Given the description of an element on the screen output the (x, y) to click on. 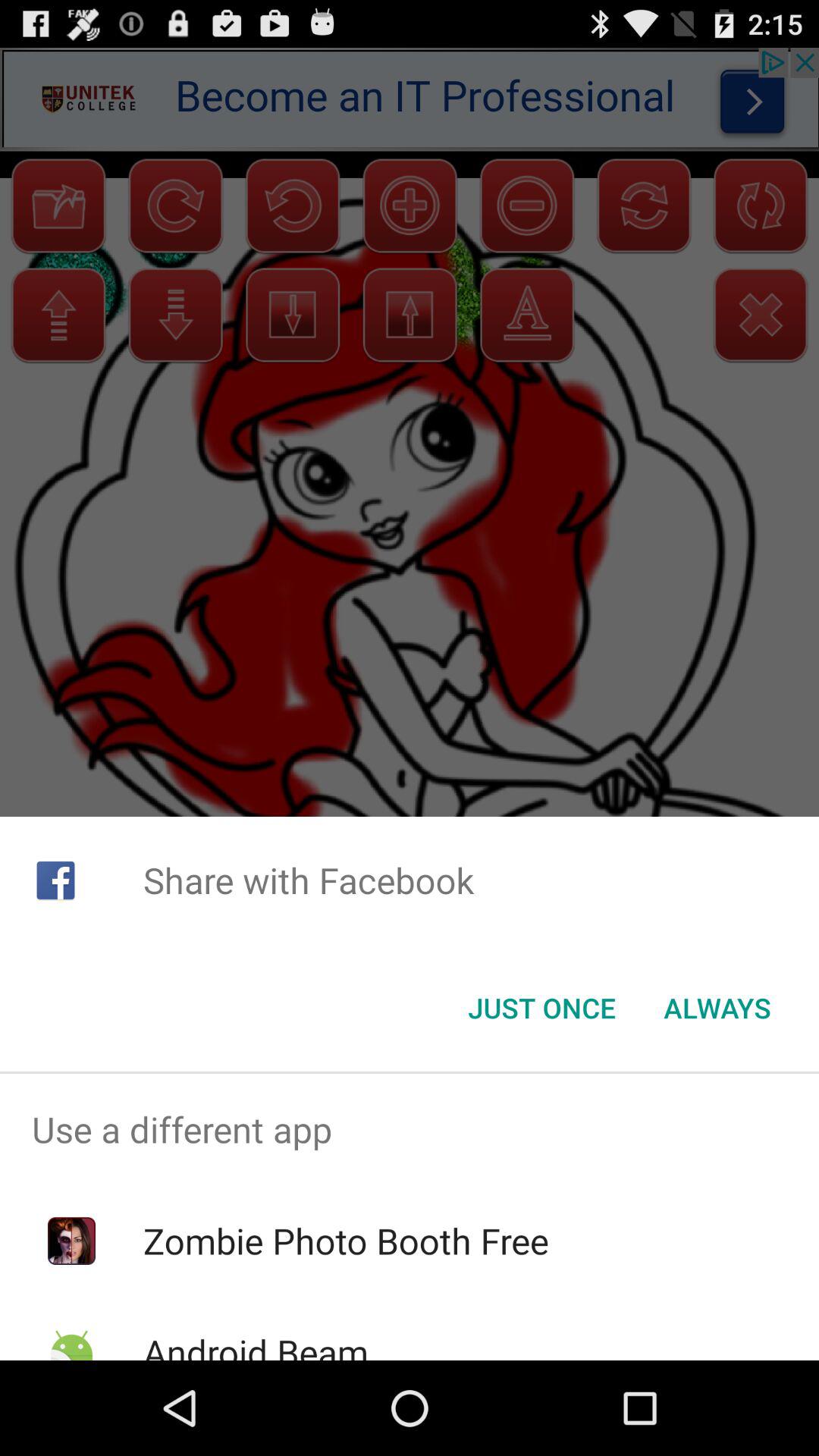
launch icon above android beam icon (345, 1240)
